Given the description of an element on the screen output the (x, y) to click on. 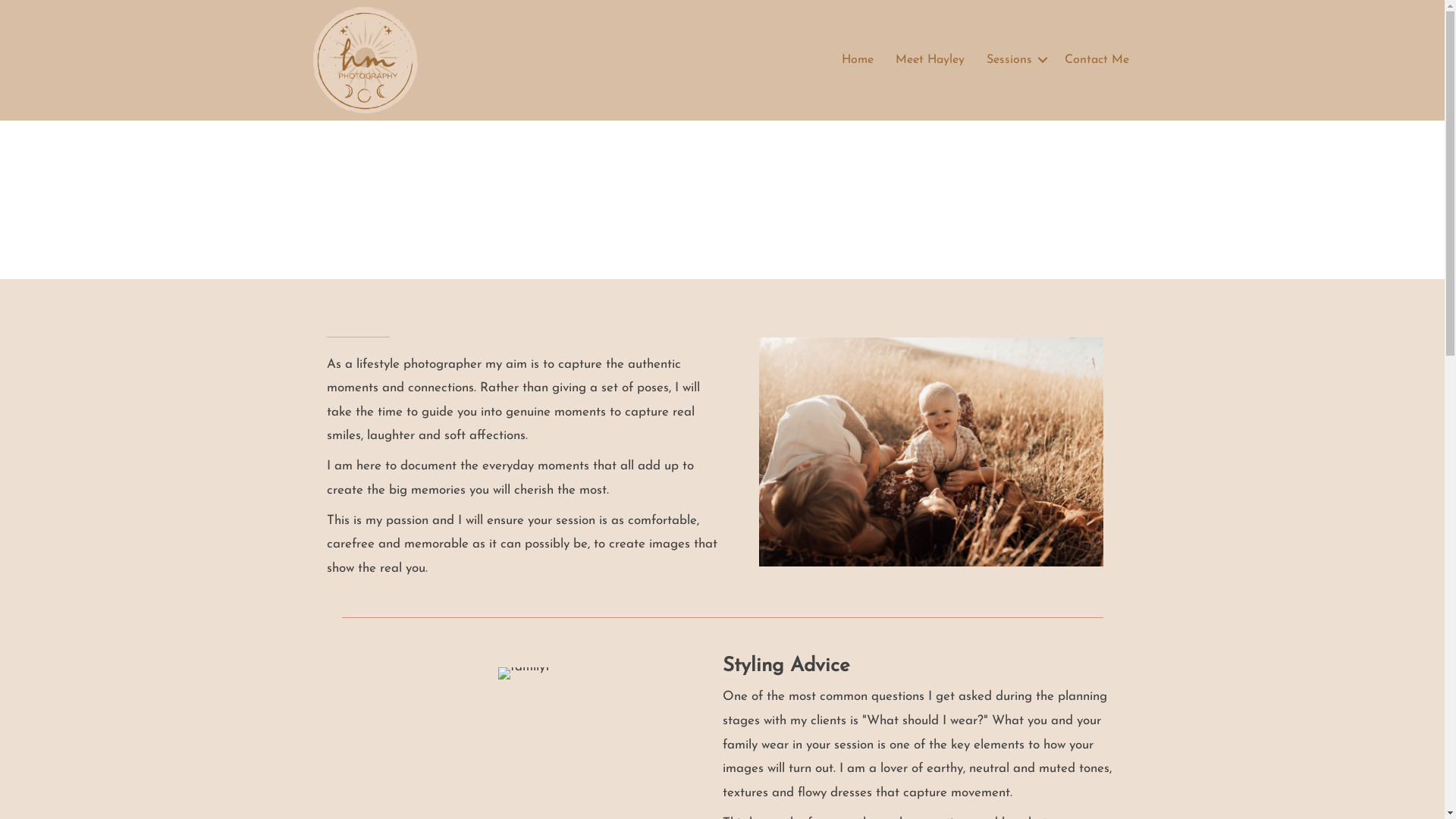
Meet Hayley Element type: text (929, 59)
family1 Element type: hover (523, 673)
Home Element type: text (857, 59)
Sessions Element type: text (1014, 59)
Contact Me Element type: text (1096, 59)
family 9 Element type: hover (930, 452)
Hayley Mae photography logo final-01 Element type: hover (365, 60)
